Given the description of an element on the screen output the (x, y) to click on. 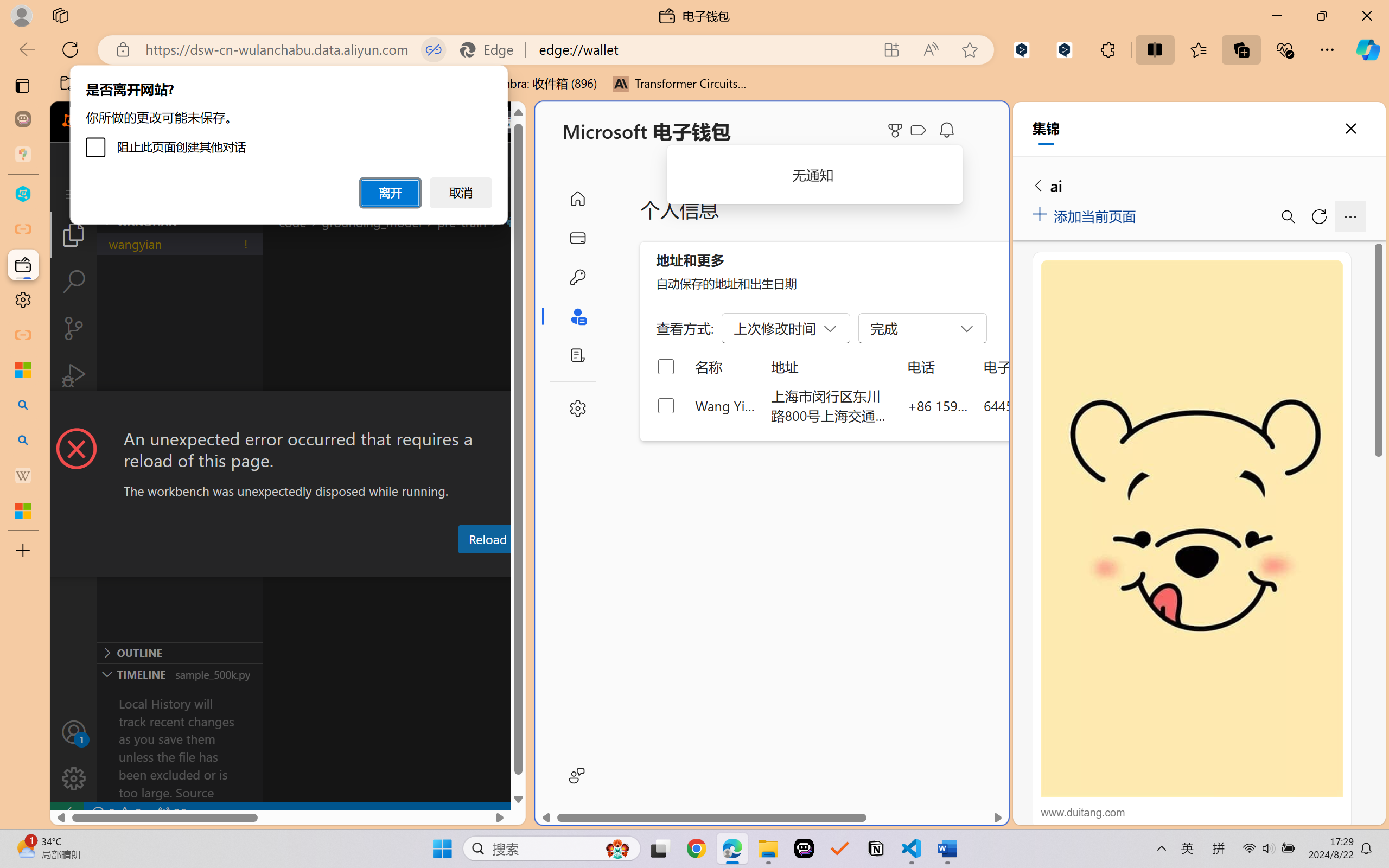
Class: actions-container (287, 410)
